Given the description of an element on the screen output the (x, y) to click on. 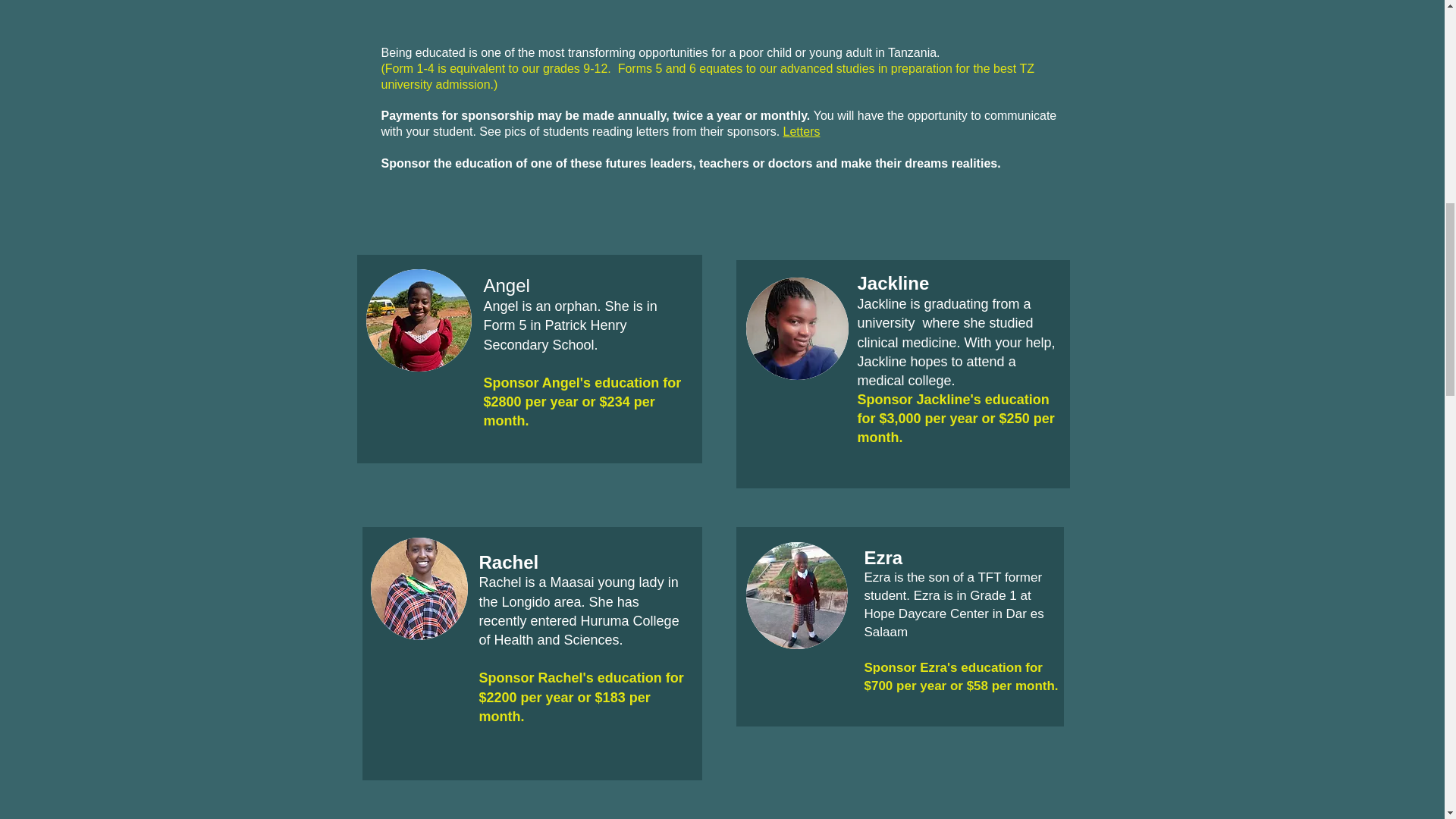
Letters (802, 131)
